Given the description of an element on the screen output the (x, y) to click on. 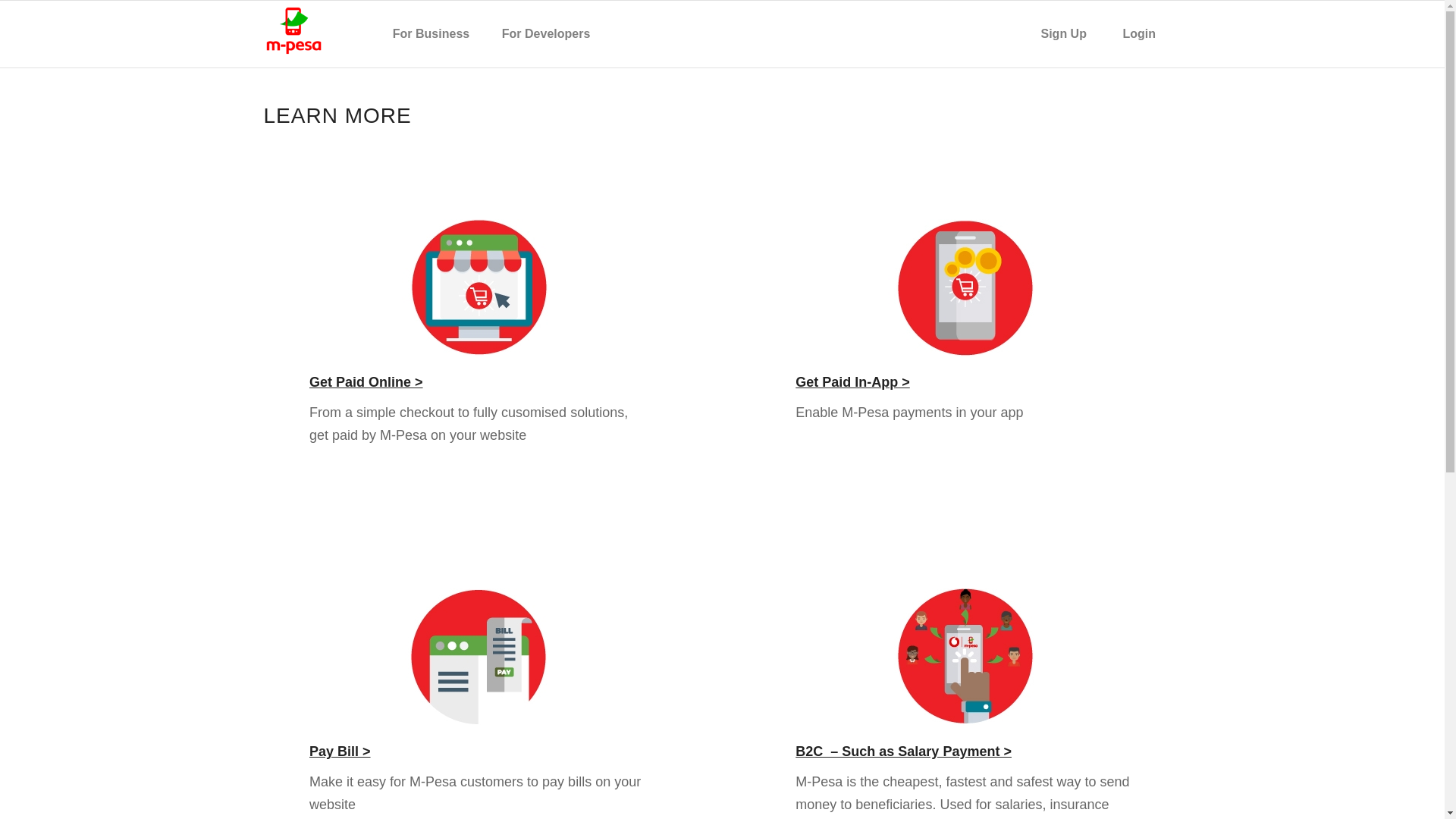
For Developers (553, 33)
Get-paid-on-your-website (478, 287)
In App Pay (964, 287)
Login (1146, 33)
For Business (437, 33)
B2C-Funds-Disbursement (964, 656)
Sign Up (1071, 33)
Pay-Bill (478, 656)
